Given the description of an element on the screen output the (x, y) to click on. 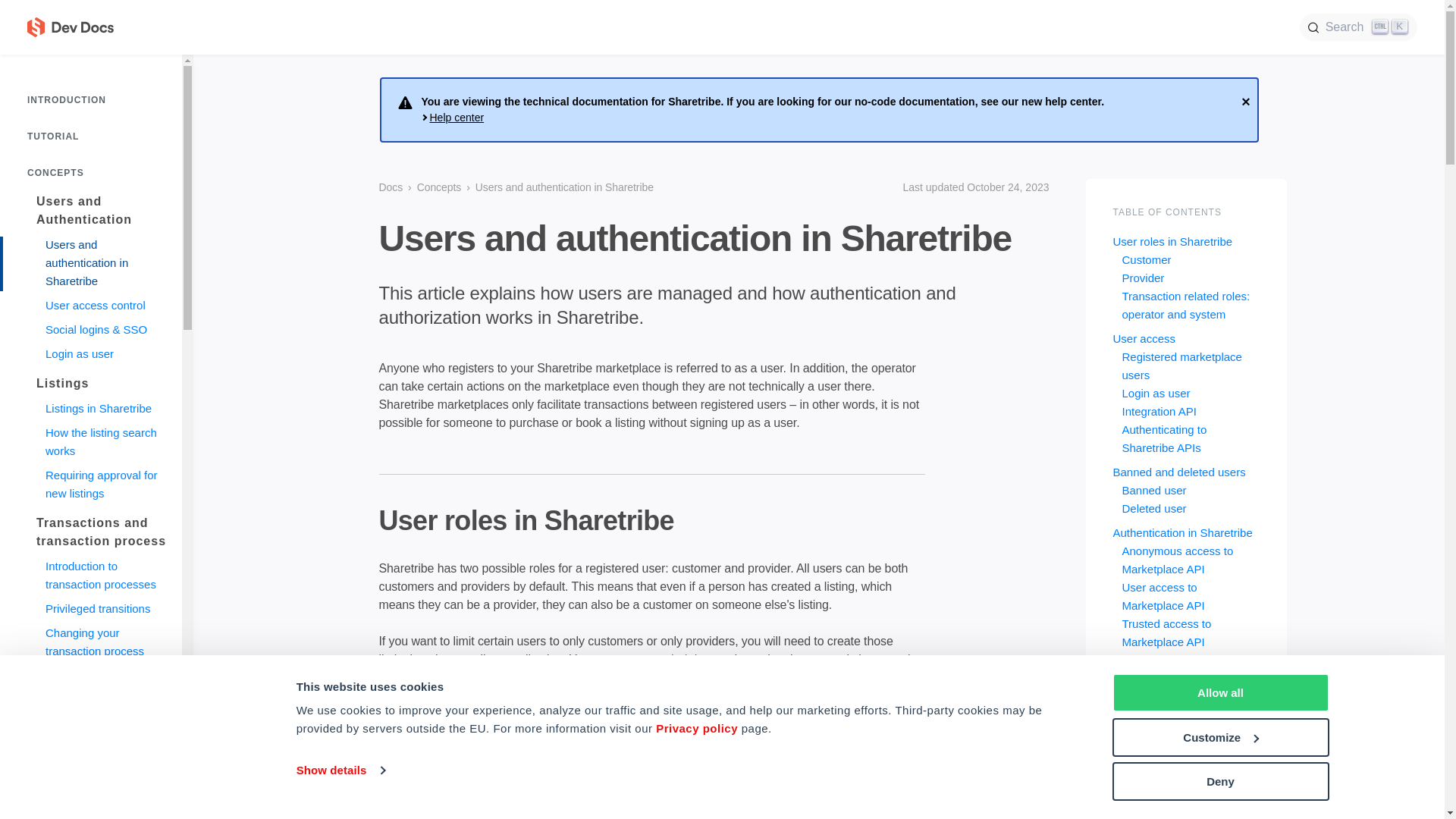
Privacy policy (697, 727)
Show details (340, 770)
2023-10-24T00:00:00.000Z (972, 187)
